Given the description of an element on the screen output the (x, y) to click on. 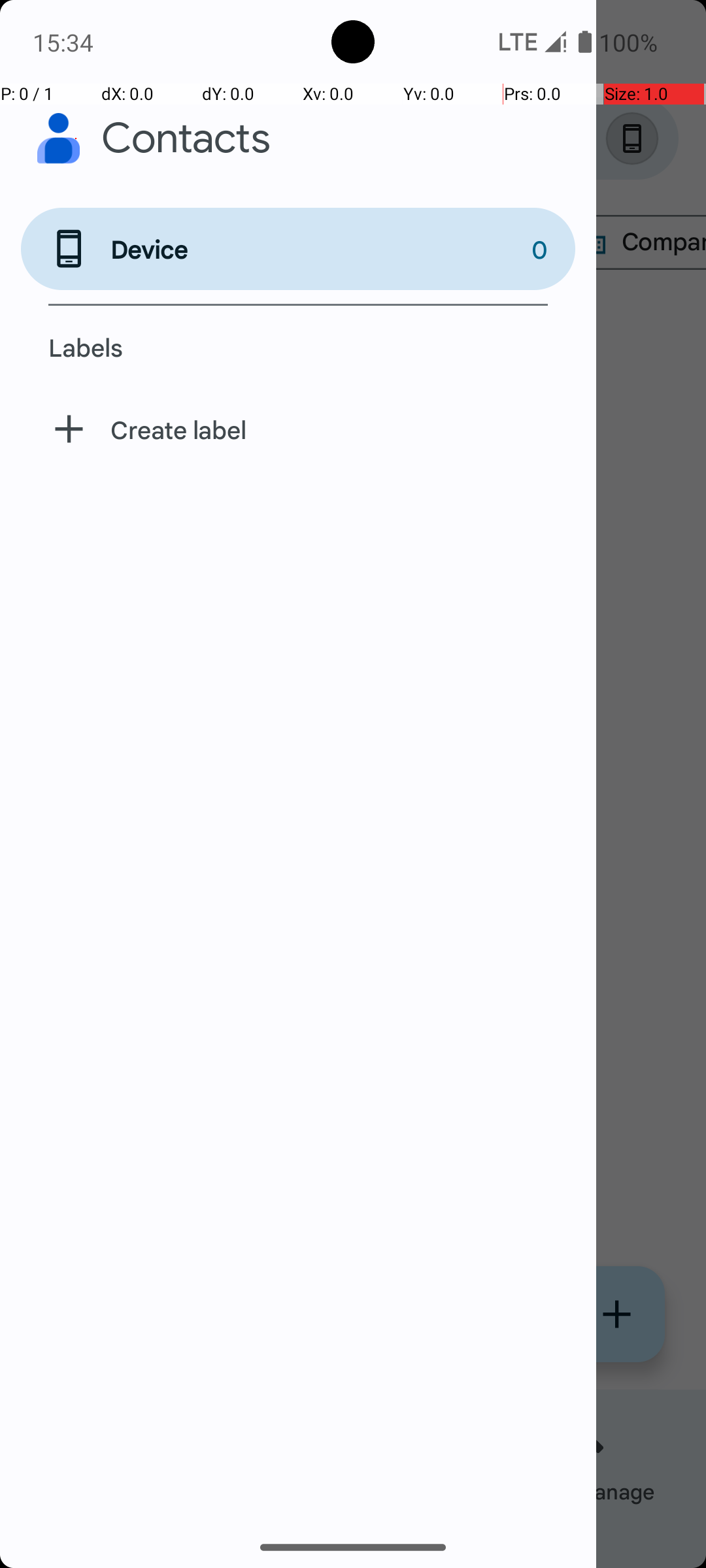
Labels Element type: android.widget.TextView (298, 346)
Device Element type: android.widget.CheckedTextView (289, 248)
Create label Element type: android.widget.CheckedTextView (297, 429)
